Given the description of an element on the screen output the (x, y) to click on. 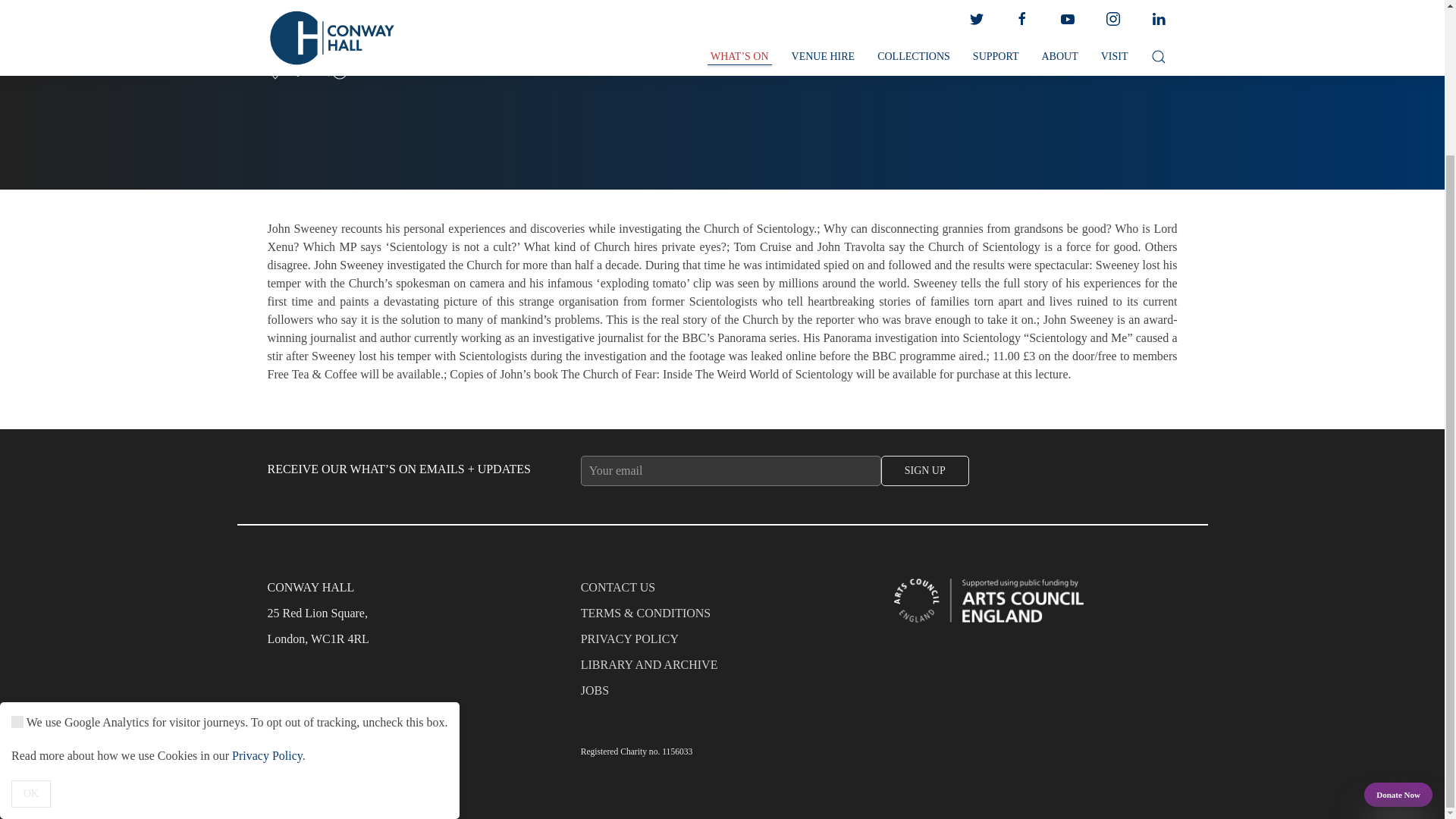
LIBRARY AND ARCHIVE (722, 668)
CONTACT US (722, 591)
Sign Up (924, 470)
on (17, 541)
PRIVACY POLICY (722, 642)
Privacy Policy (266, 574)
JOBS (722, 694)
Sign Up (924, 470)
OK (30, 613)
Donate Now (1398, 613)
